Given the description of an element on the screen output the (x, y) to click on. 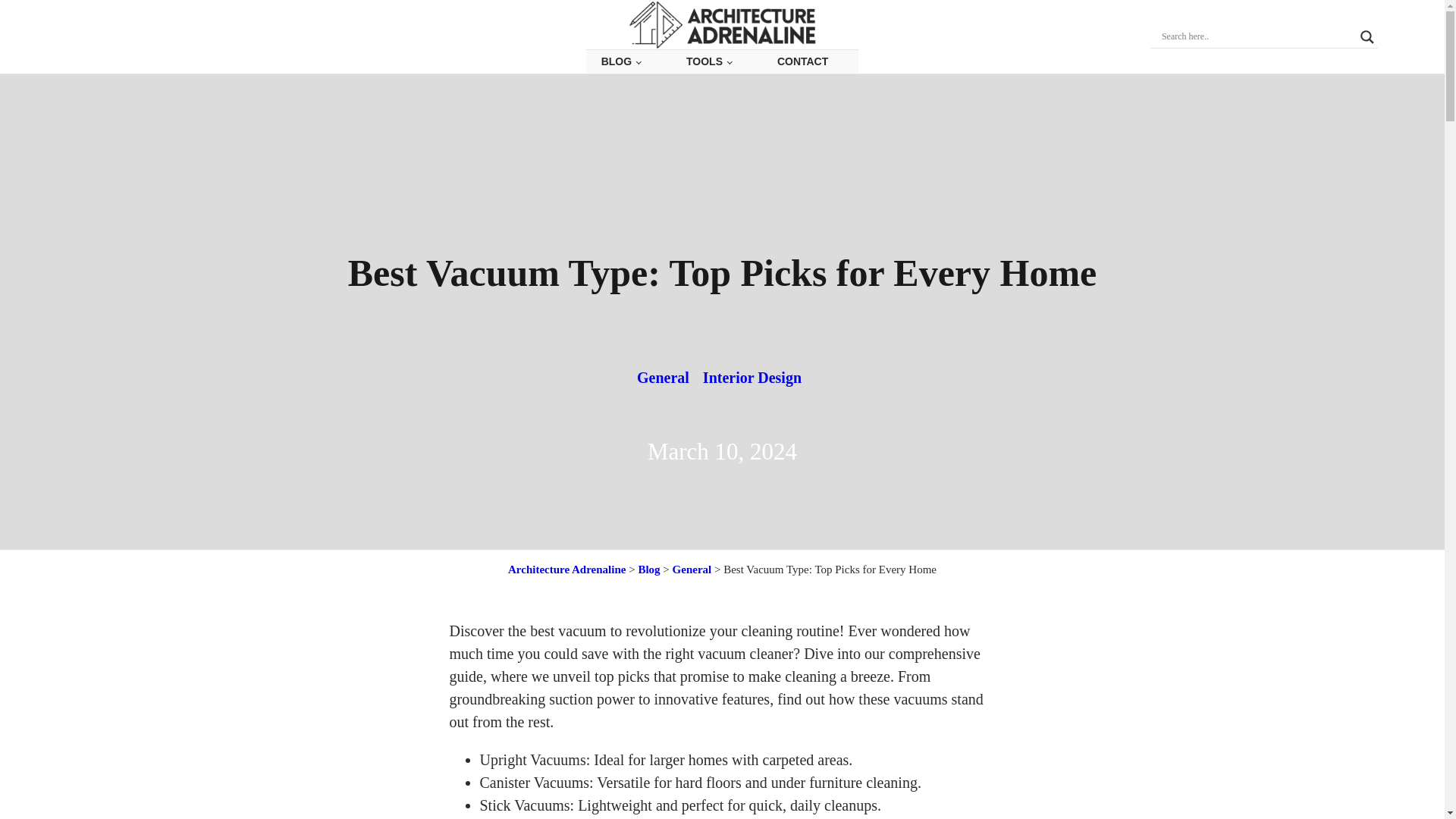
General (662, 377)
BLOG (621, 61)
CONTACT (802, 61)
Interior Design (752, 377)
Blog (648, 568)
Go to Blog. (648, 568)
General (691, 568)
Architecture Adrenaline (567, 568)
TOOLS (708, 61)
Go to the General Category archives. (691, 568)
